Given the description of an element on the screen output the (x, y) to click on. 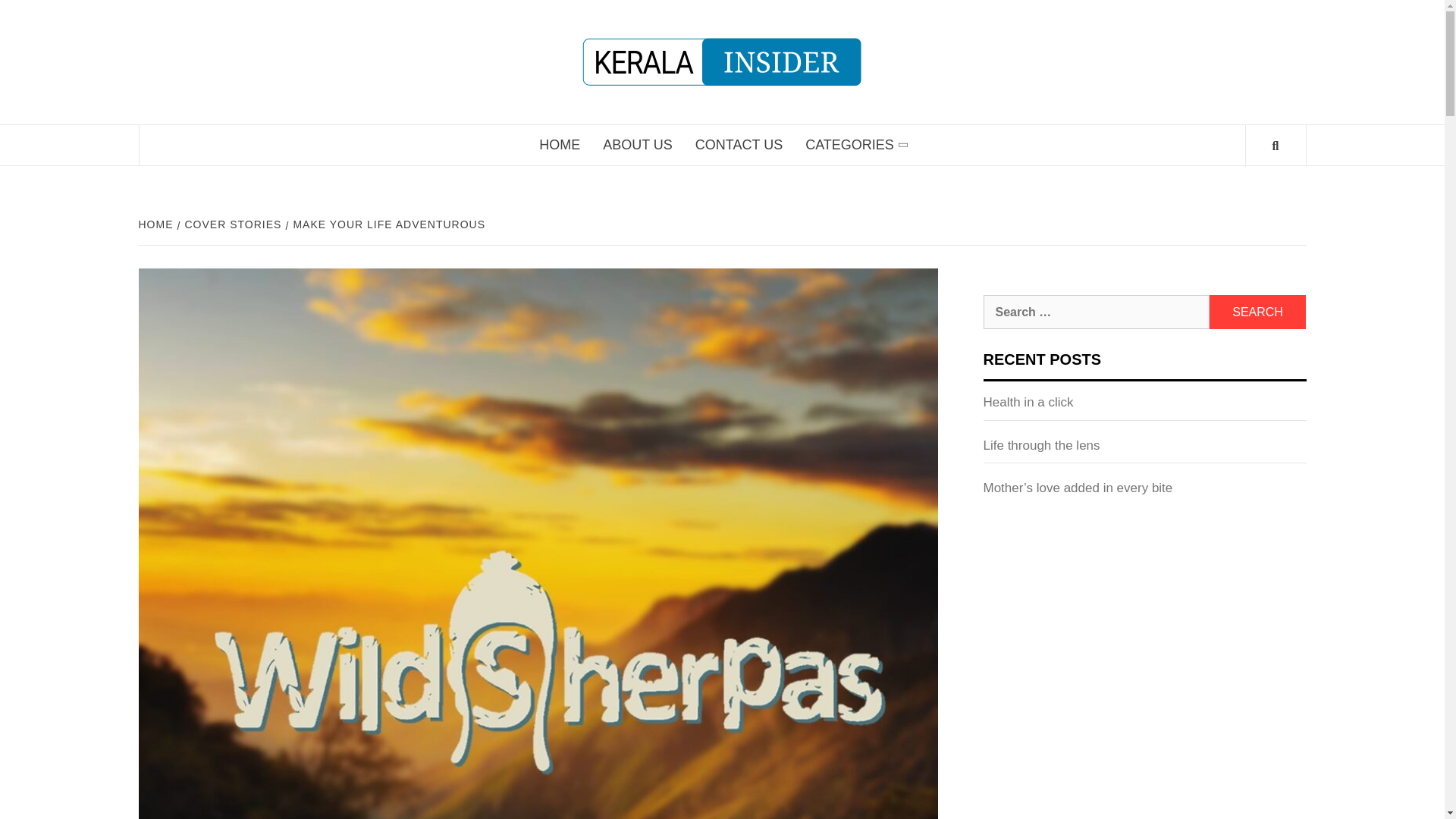
CONTACT US (738, 145)
MAKE YOUR LIFE ADVENTUROUS (387, 224)
HOME (559, 145)
CATEGORIES (855, 145)
Search (1257, 311)
Search (1257, 311)
HOME (157, 224)
ABOUT US (637, 145)
COVER STORIES (231, 224)
